Given the description of an element on the screen output the (x, y) to click on. 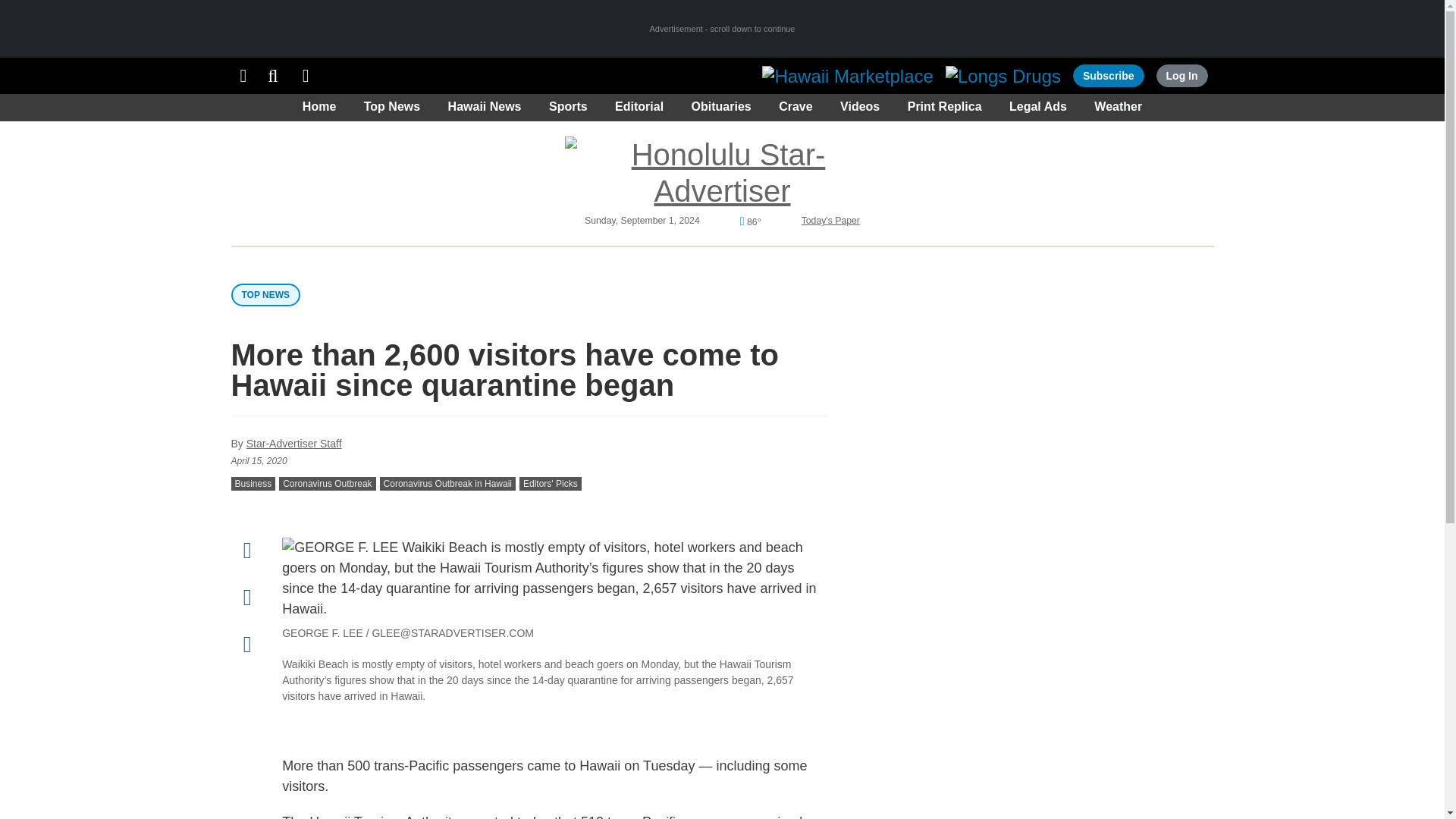
Subscribe (1108, 75)
Honolulu Star-Advertiser (721, 172)
Sections (243, 75)
Search (272, 75)
Print Replica (306, 75)
See more stories by Star-Advertiser Staff (294, 443)
Log In (1182, 75)
